Given the description of an element on the screen output the (x, y) to click on. 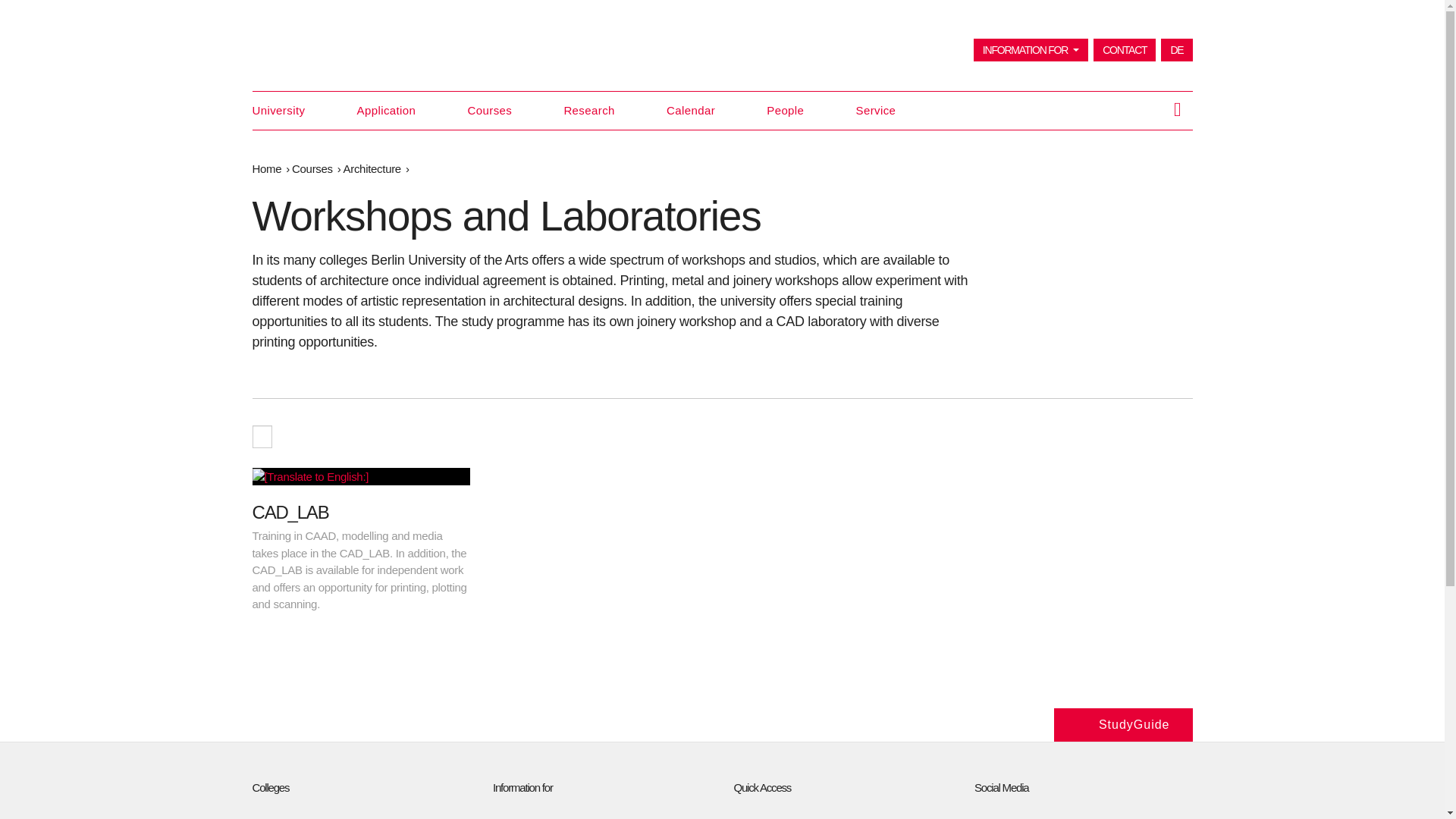
StudyGuide (1123, 725)
Research (588, 110)
Home (266, 168)
Architecture (371, 168)
Application (386, 110)
Calendar (690, 110)
Courses (489, 110)
DE (1176, 49)
Service (876, 110)
Deutsche Version (1176, 49)
CONTACT (1124, 49)
Courses (312, 168)
People (785, 110)
University (277, 110)
